Given the description of an element on the screen output the (x, y) to click on. 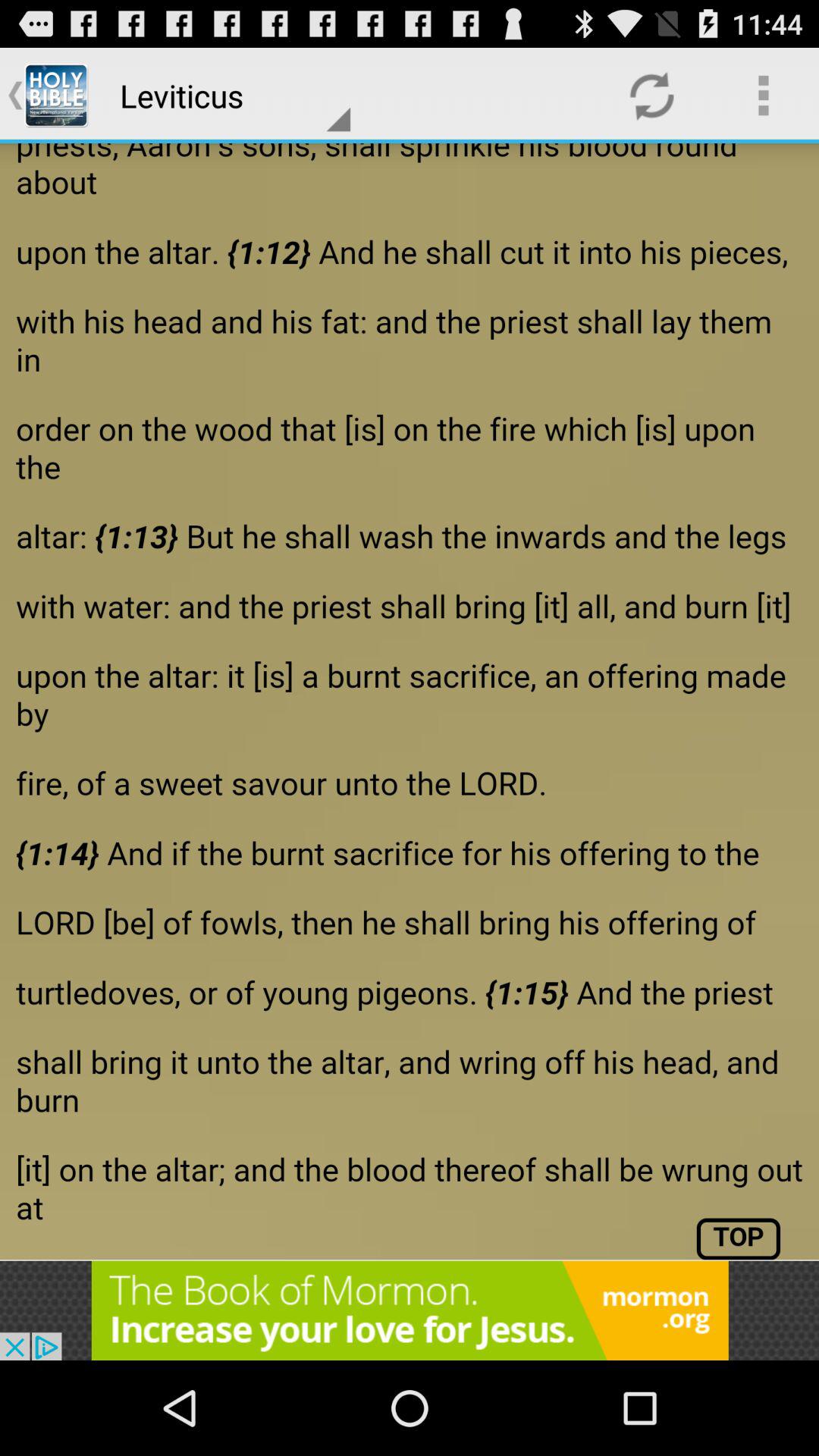
advertisement page (409, 701)
